Given the description of an element on the screen output the (x, y) to click on. 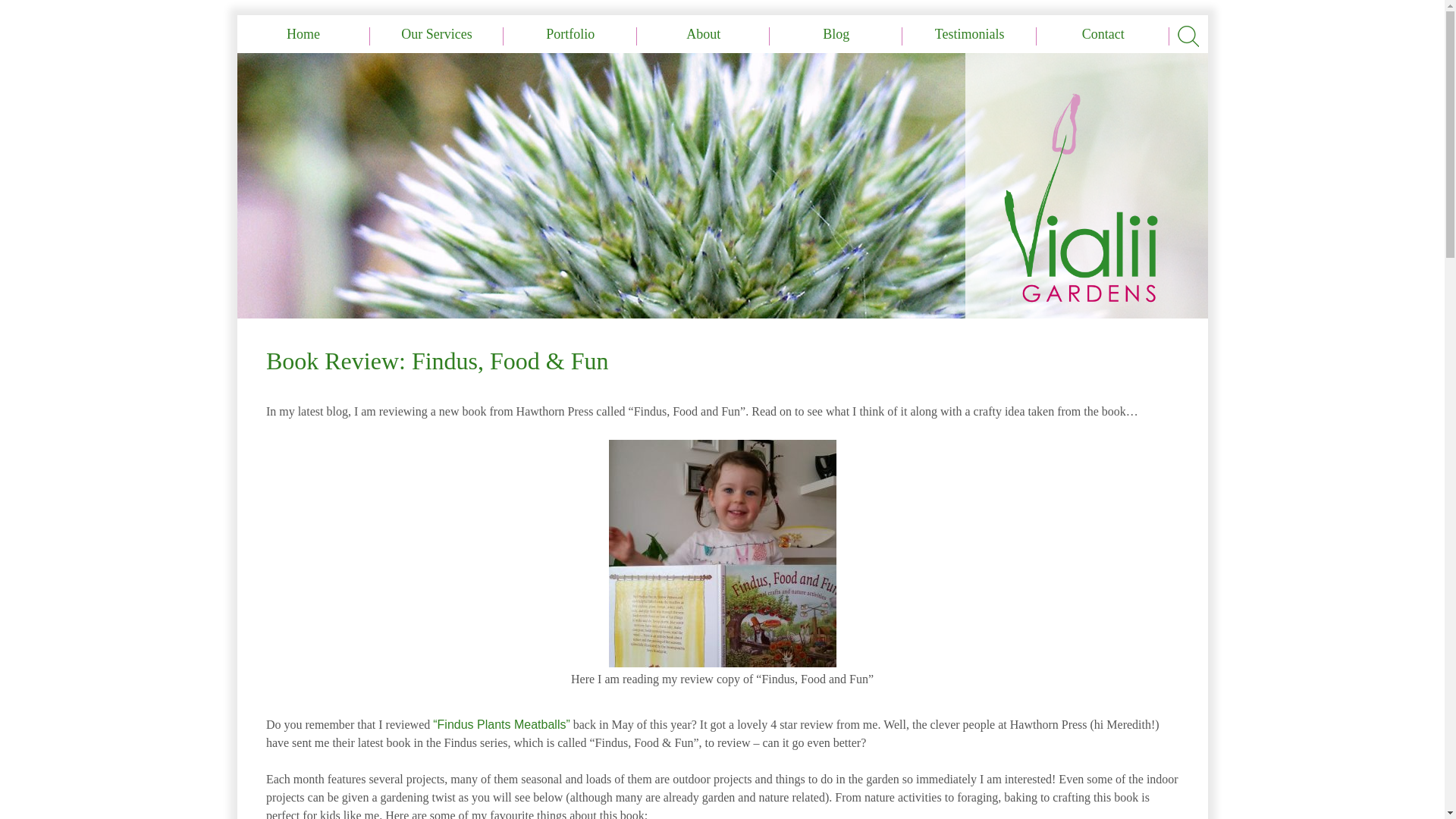
Blog (836, 34)
Portfolio (570, 34)
Home (302, 34)
Our Services (436, 34)
About (703, 34)
